Given the description of an element on the screen output the (x, y) to click on. 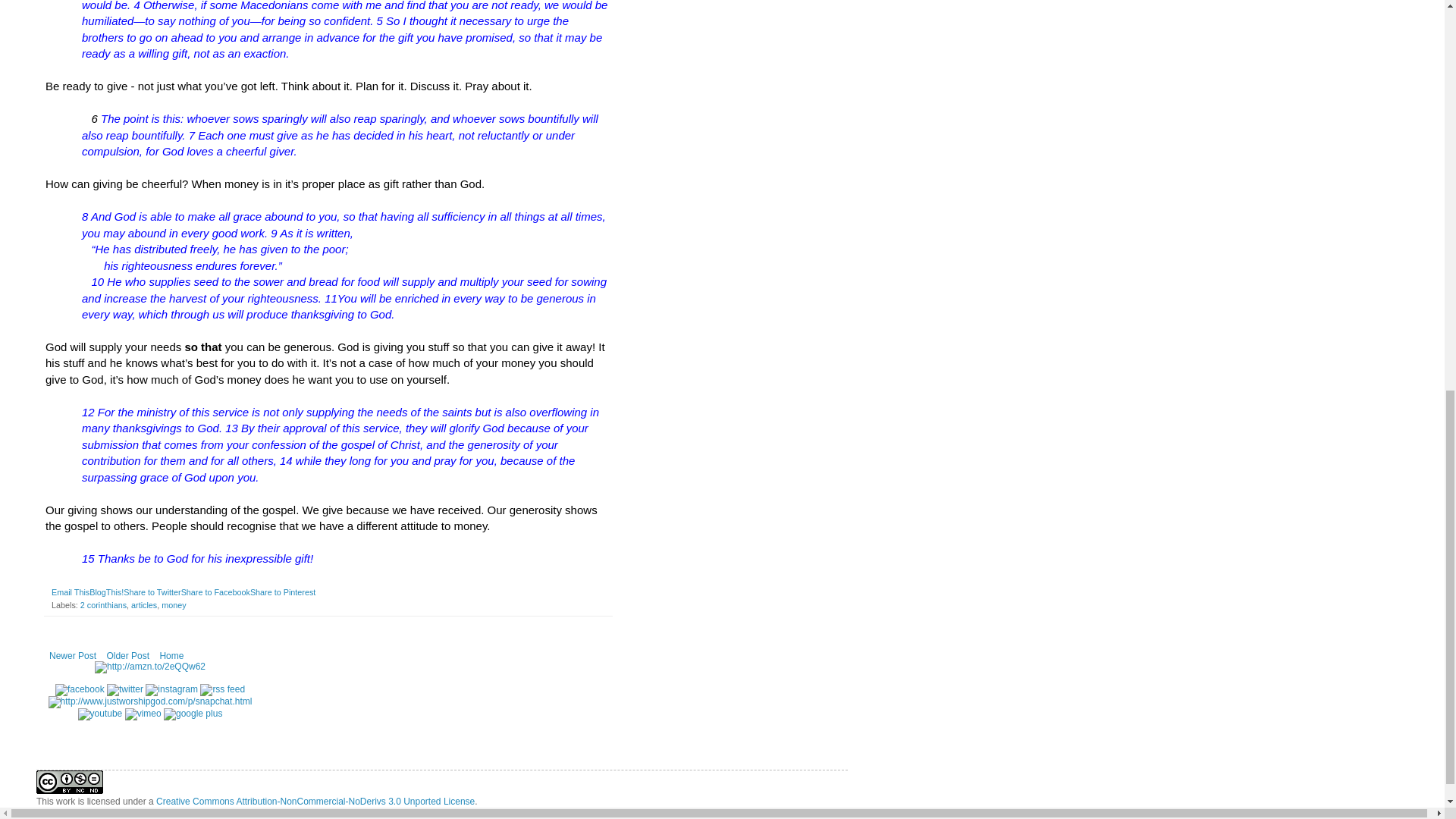
BlogThis! (105, 592)
Email This (69, 592)
articles (144, 604)
Email This (69, 592)
Older Post (126, 656)
Home (171, 656)
BlogThis! (105, 592)
Share to Twitter (151, 592)
money (173, 604)
Blogger (496, 811)
Share to Pinterest (282, 592)
Share to Facebook (215, 592)
Older Post (126, 656)
Newer Post (72, 656)
